Given the description of an element on the screen output the (x, y) to click on. 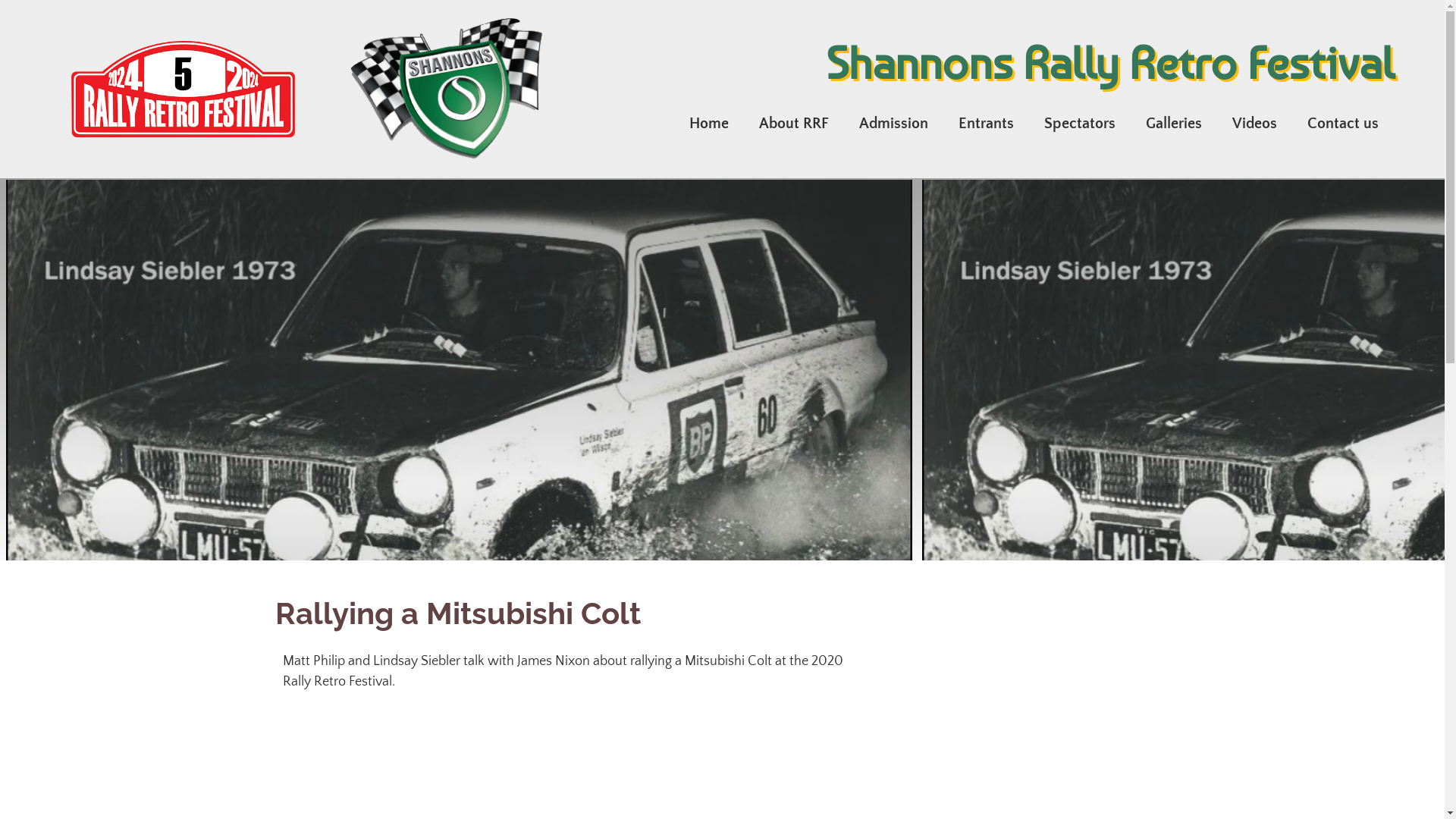
Contact us Element type: text (1342, 123)
Spectators Element type: text (1079, 123)
Home Element type: text (708, 123)
Videos Element type: text (1254, 123)
Entrants Element type: text (986, 123)
About RRF Element type: text (793, 123)
Galleries Element type: text (1173, 123)
Admission Element type: text (893, 123)
